Given the description of an element on the screen output the (x, y) to click on. 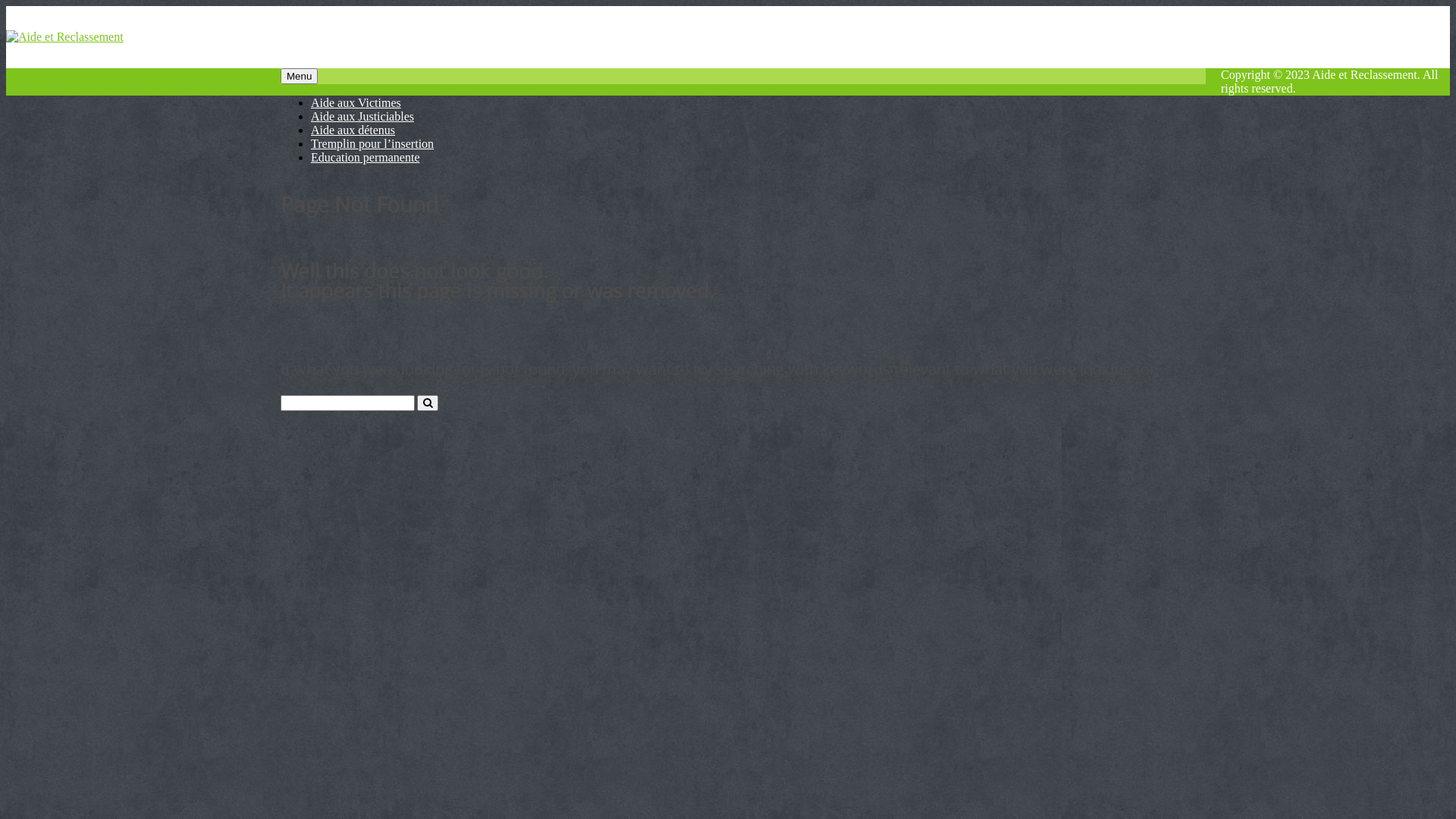
Skip to content Element type: text (5, 5)
Education permanente Element type: text (365, 156)
Aide aux Victimes Element type: text (355, 102)
Menu Element type: text (298, 76)
Skip to content Element type: text (279, 83)
Aide aux Justiciables Element type: text (362, 115)
Search Element type: text (427, 403)
